Given the description of an element on the screen output the (x, y) to click on. 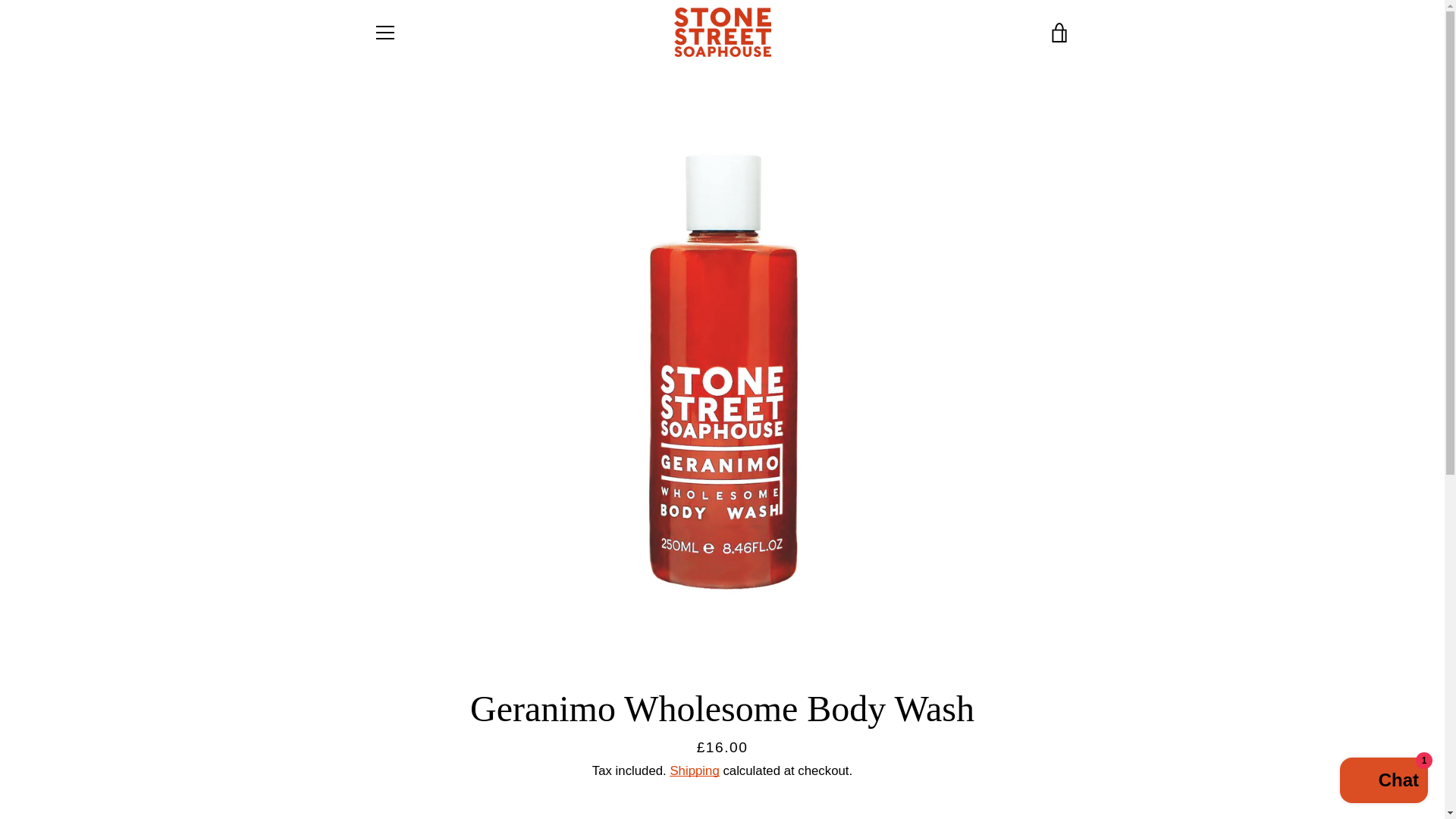
NEWS (864, 713)
Stone Street Soaphouse on Instagram (372, 776)
MENU (384, 32)
DROP US A LINE (610, 713)
Stone Street Soaphouse (1007, 777)
VIEW CART (1059, 32)
SEARCH (802, 713)
Shipping (694, 770)
Shopify online store chat (1383, 781)
HOTEL MINIS (718, 713)
Instagram (372, 776)
